Given the description of an element on the screen output the (x, y) to click on. 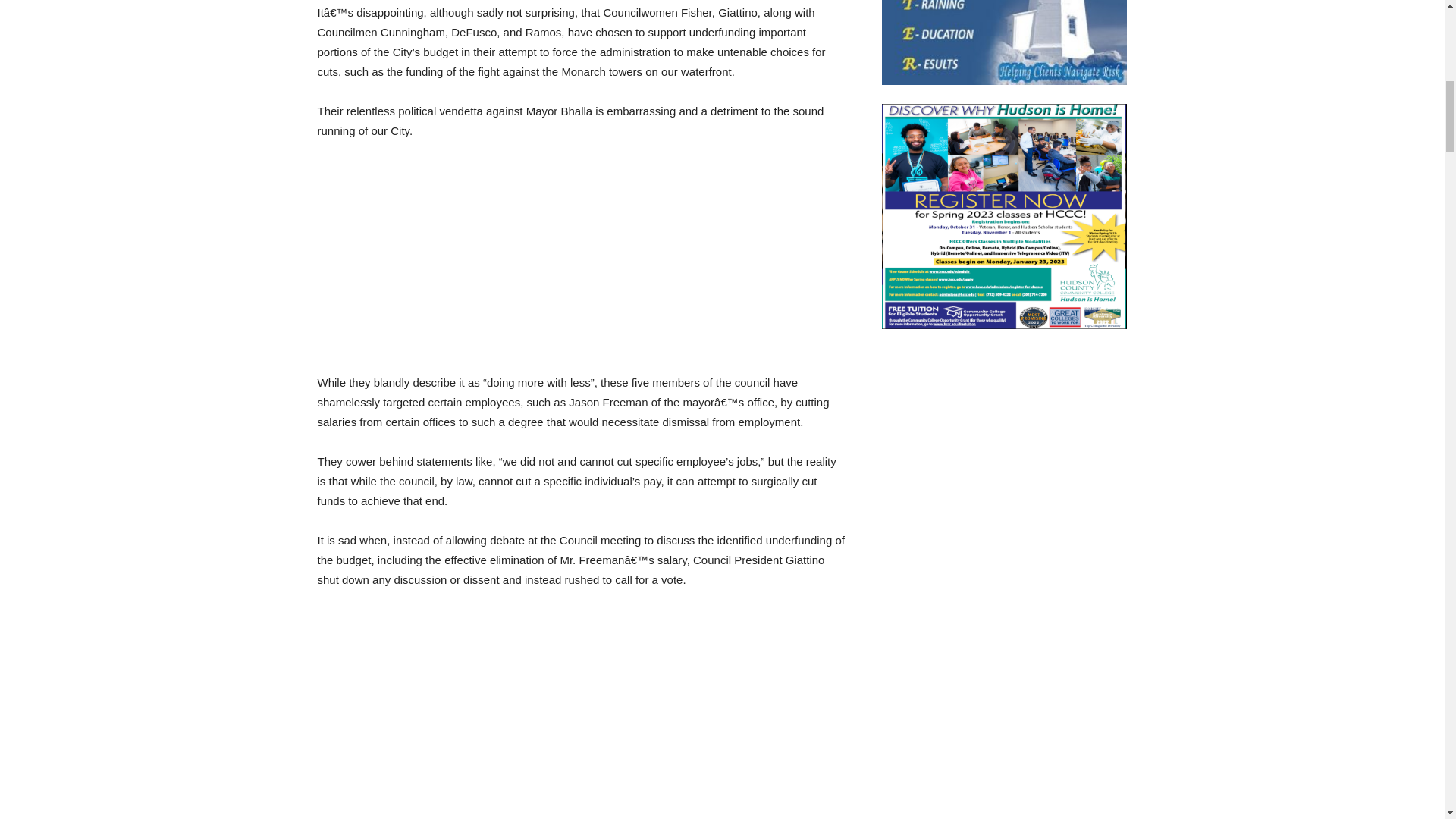
Advertisement (580, 714)
Advertisement (580, 266)
